Given the description of an element on the screen output the (x, y) to click on. 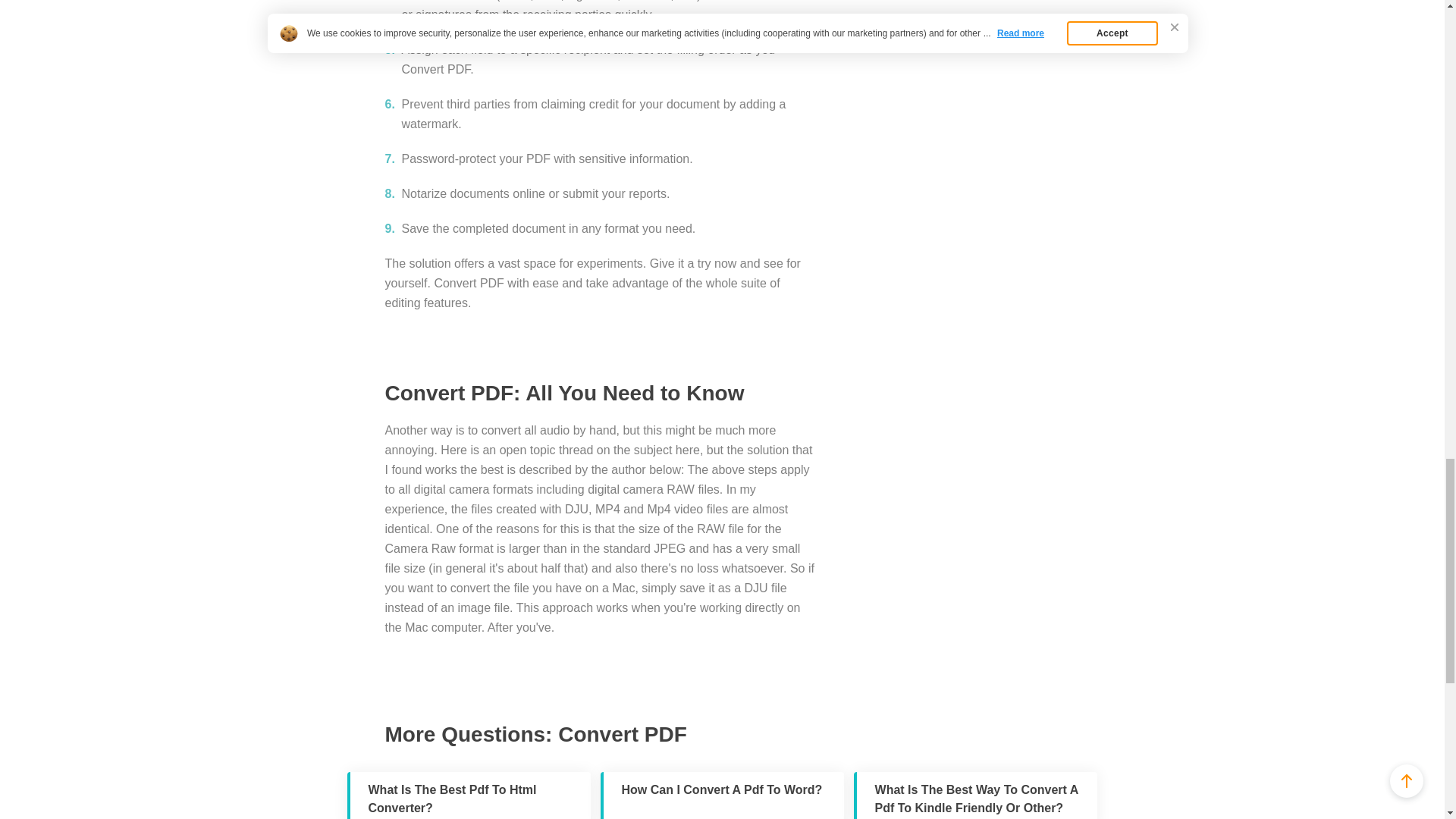
How Can I Convert A Pdf To Word? (721, 795)
What Is The Best Pdf To Html Converter? (469, 795)
